Given the description of an element on the screen output the (x, y) to click on. 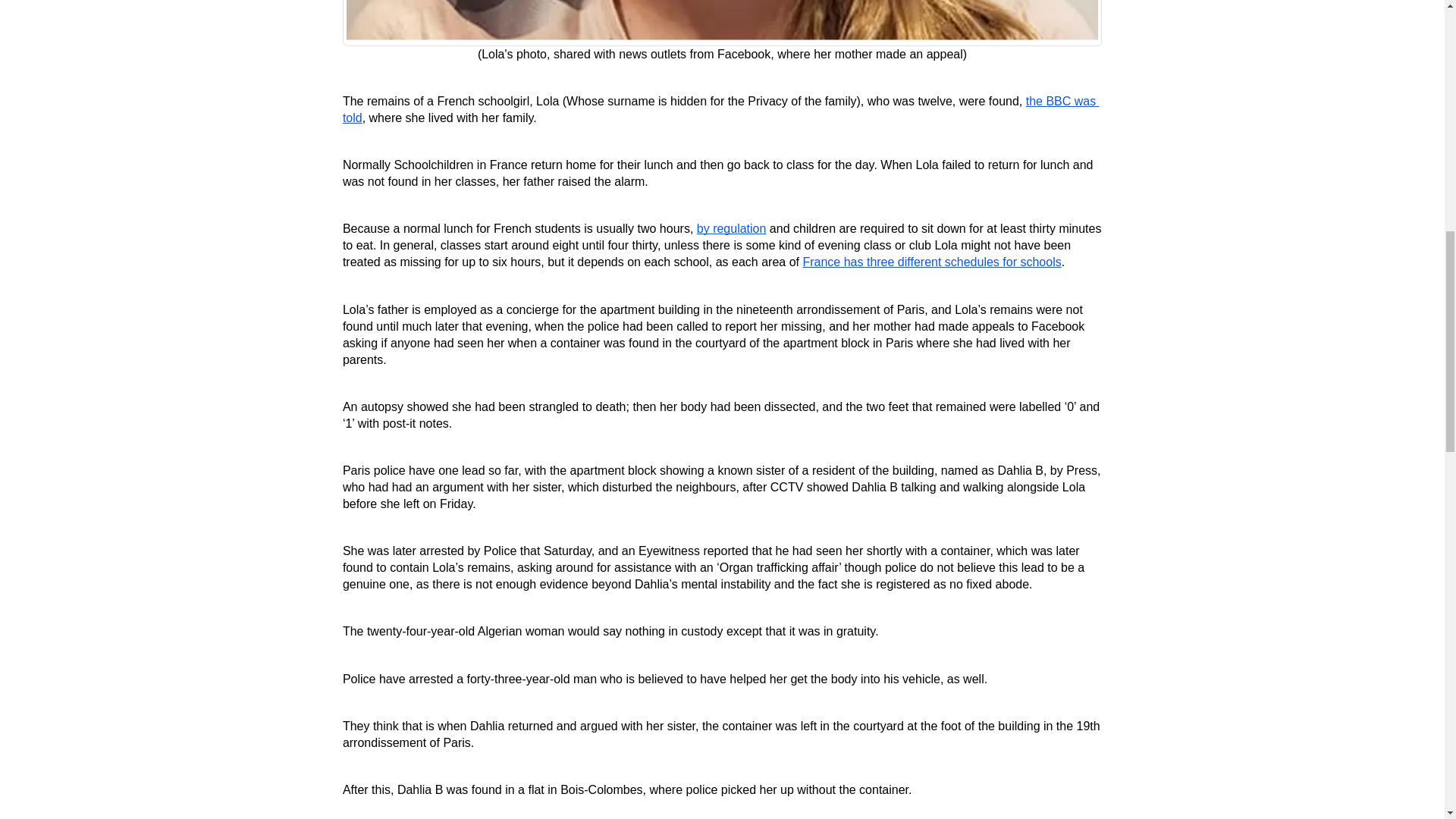
by regulation (732, 228)
France has three different schedules for schools (931, 262)
the BBC was told (720, 110)
